Given the description of an element on the screen output the (x, y) to click on. 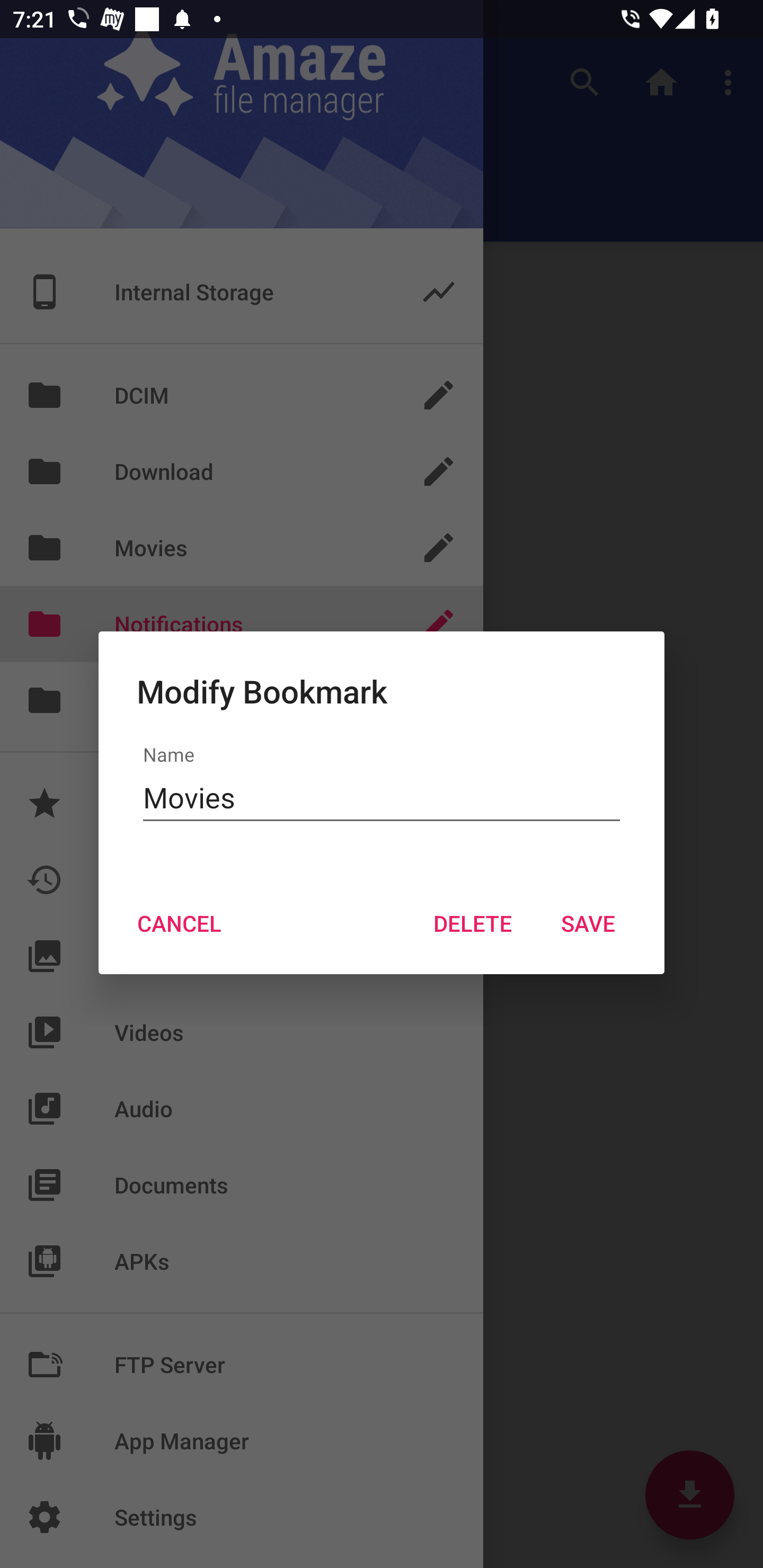
Movies (381, 798)
CANCEL (178, 923)
DELETE (472, 923)
SAVE (588, 923)
